Given the description of an element on the screen output the (x, y) to click on. 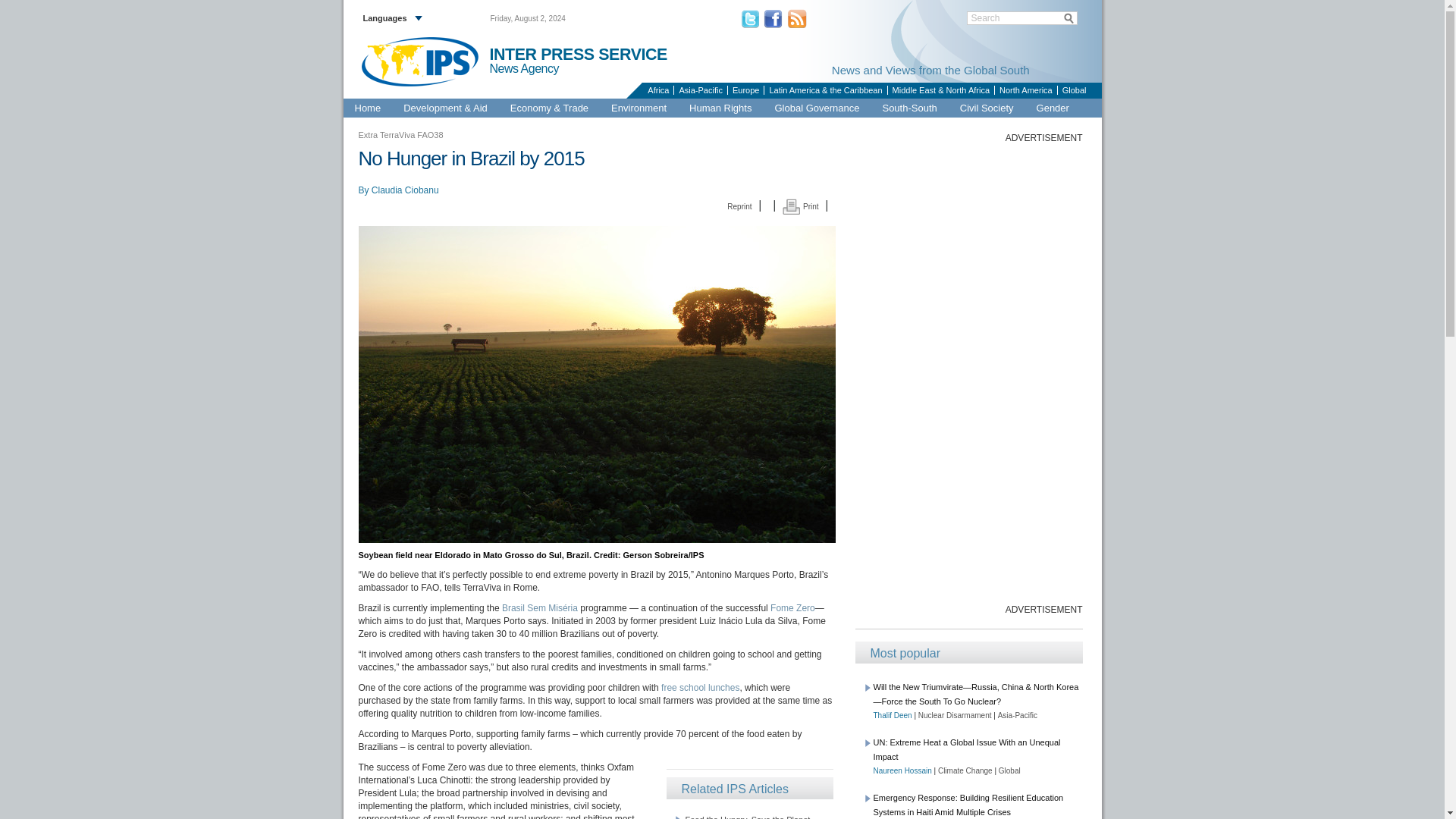
News Agency (531, 69)
Home (366, 107)
Asia-Pacific (699, 90)
Europe (744, 90)
Global (1073, 90)
Posts by Claudia Ciobanu (405, 190)
Posts by Naureen Hossain (902, 770)
Search (1022, 18)
Africa (657, 90)
Posts by Thalif Deen (892, 715)
INTER PRESS SERVICE (577, 54)
North America (1025, 90)
